Given the description of an element on the screen output the (x, y) to click on. 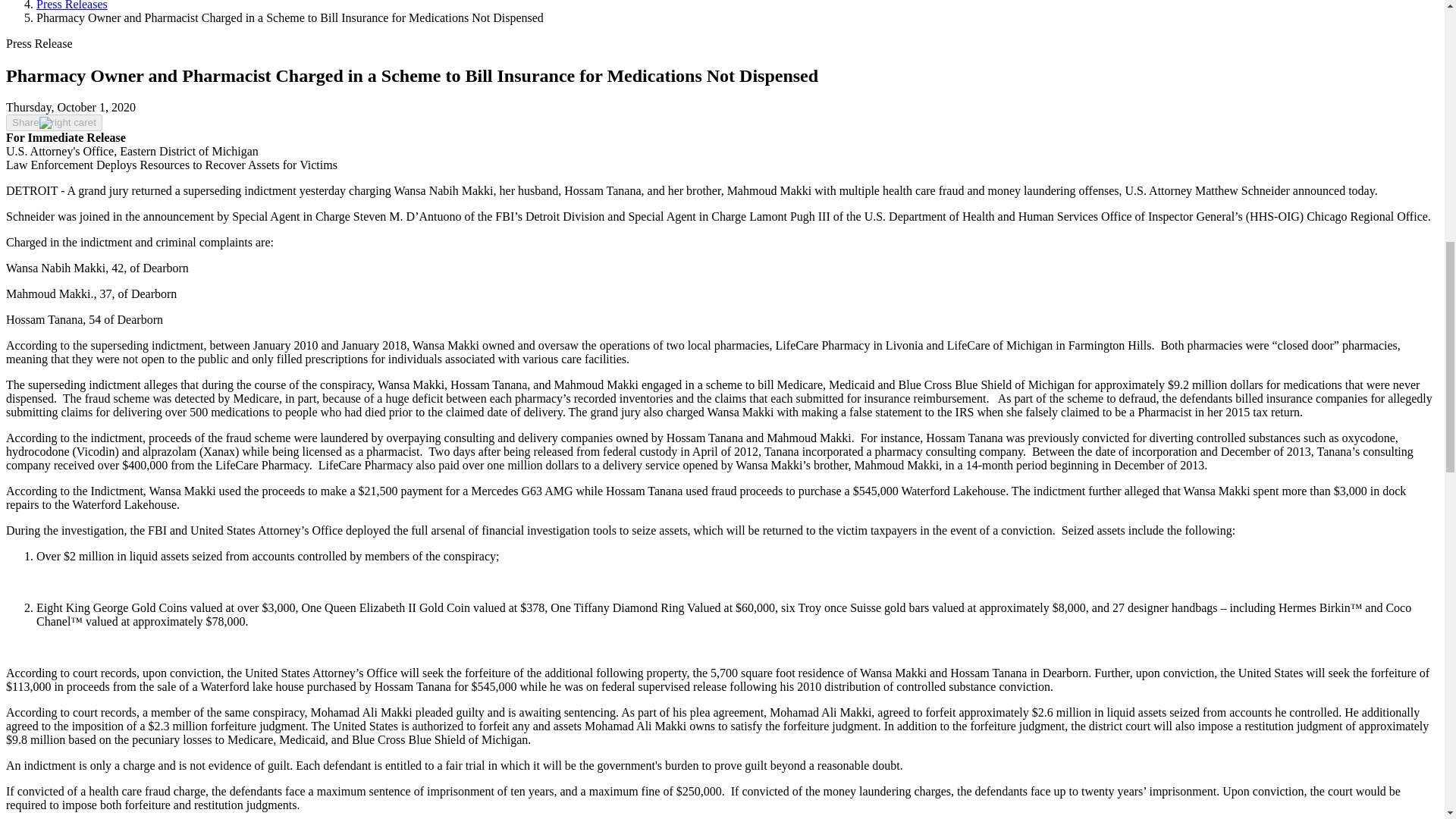
Share (53, 122)
Press Releases (71, 5)
